Given the description of an element on the screen output the (x, y) to click on. 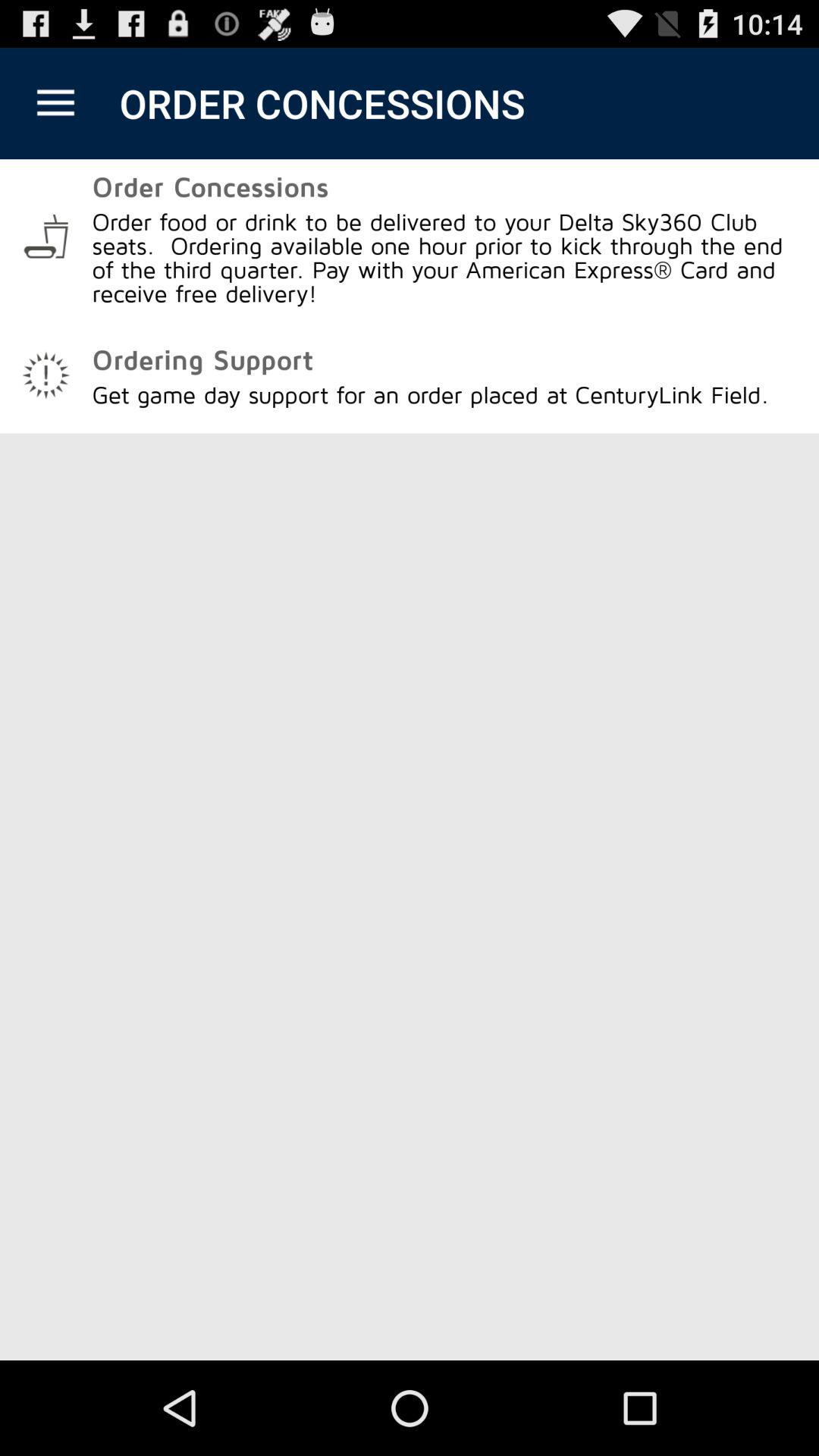
turn off the item next to order concessions app (55, 103)
